Given the description of an element on the screen output the (x, y) to click on. 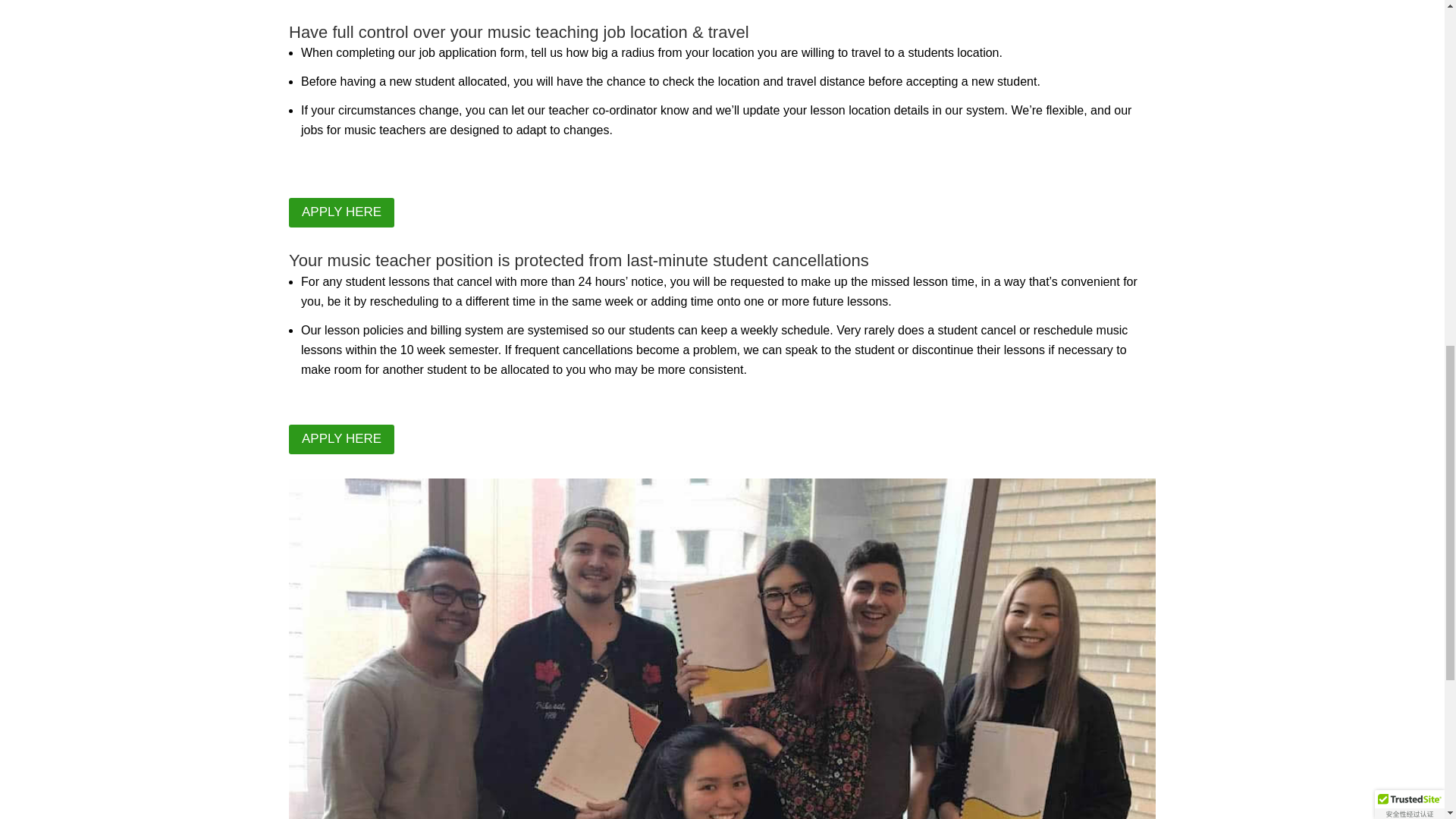
APPLY HERE (341, 212)
APPLY HERE (341, 439)
